Given the description of an element on the screen output the (x, y) to click on. 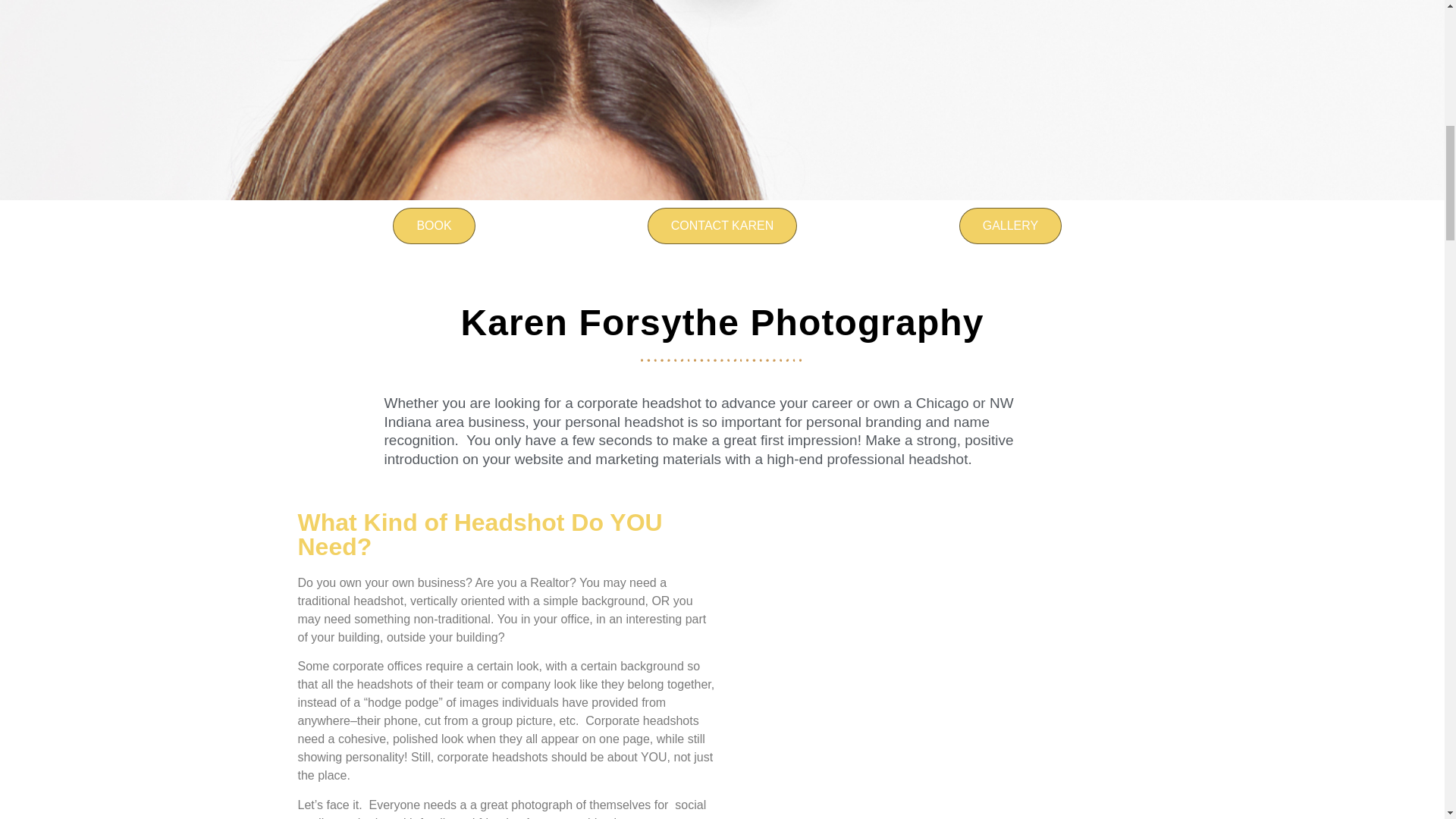
CONTACT KAREN (721, 226)
GALLERY (1010, 226)
BOOK (433, 226)
